Given the description of an element on the screen output the (x, y) to click on. 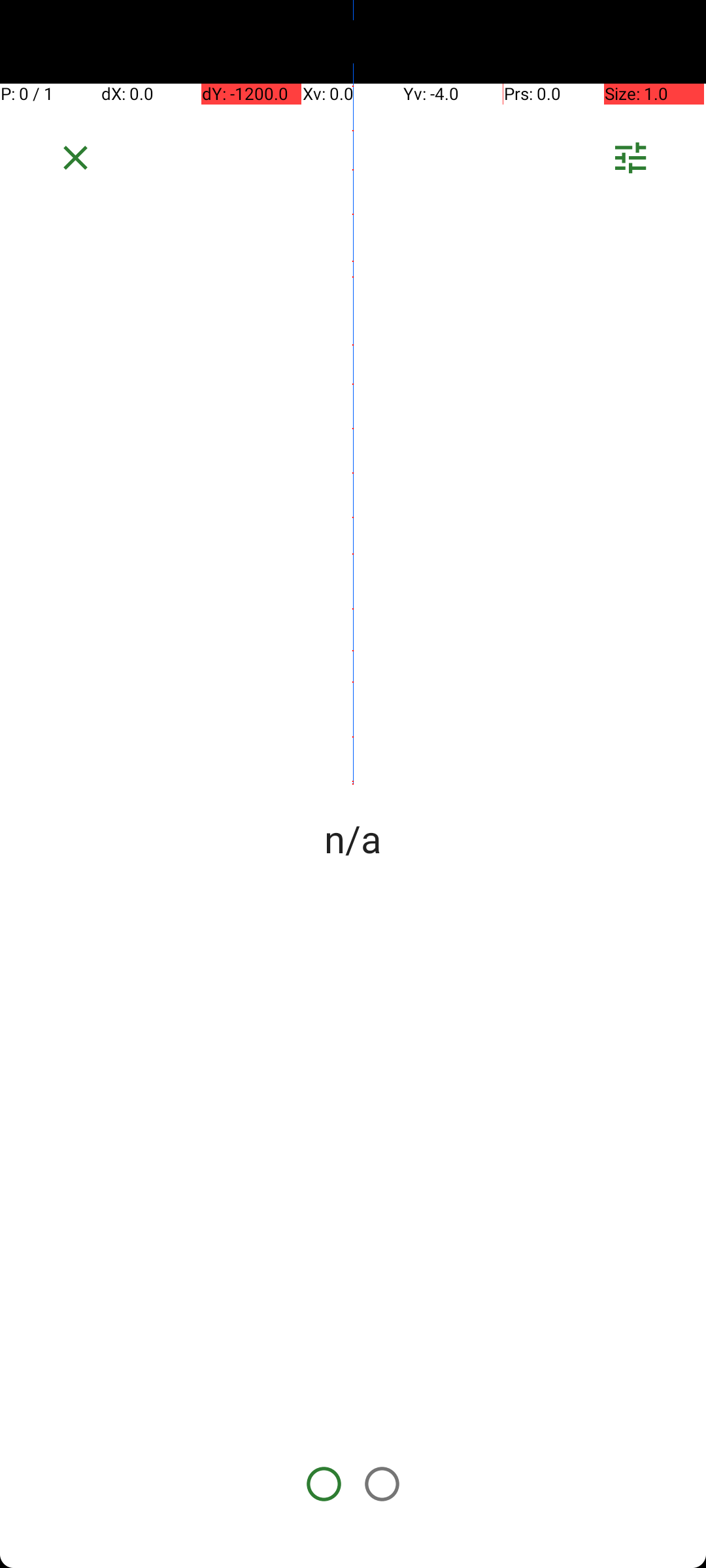
n/a Element type: android.widget.TextView (352, 838)
